Given the description of an element on the screen output the (x, y) to click on. 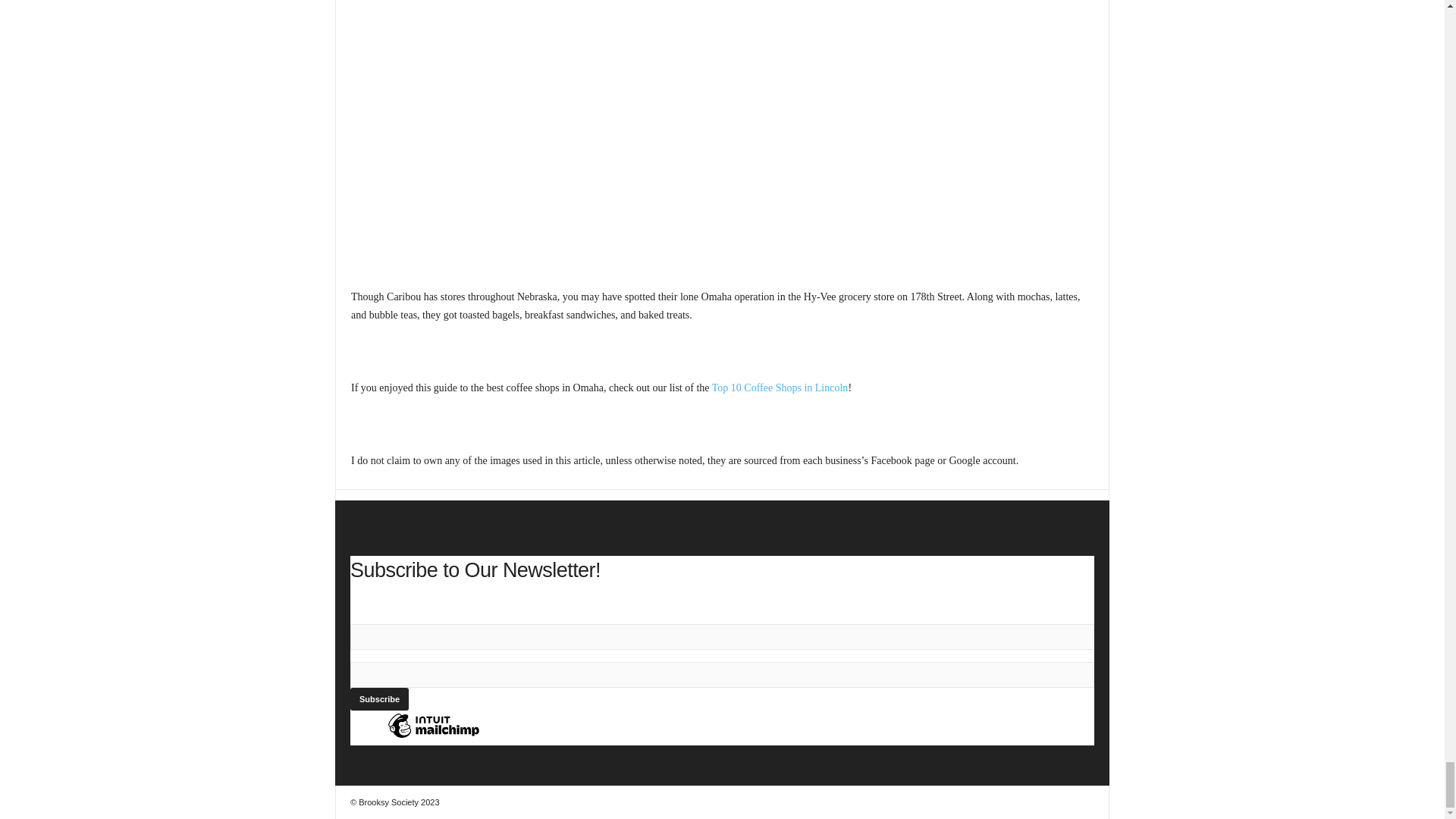
Subscribe (379, 698)
Mailchimp - email marketing made easy and fun (433, 737)
